Given the description of an element on the screen output the (x, y) to click on. 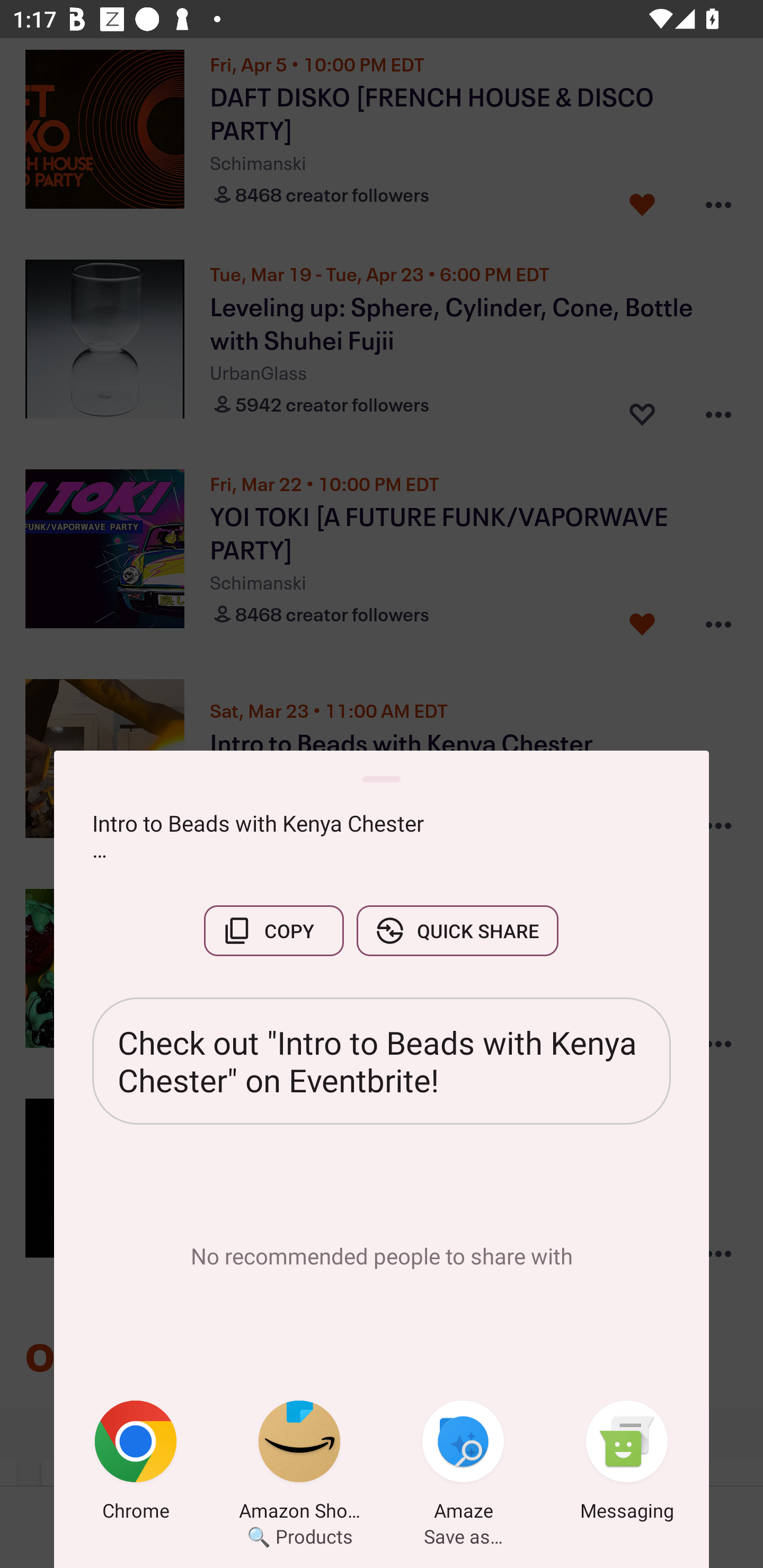
COPY (273, 930)
QUICK SHARE (457, 930)
Chrome (135, 1463)
Amazon Shopping 🔍 Products (299, 1463)
Amaze Save as… (463, 1463)
Messaging (626, 1463)
